Given the description of an element on the screen output the (x, y) to click on. 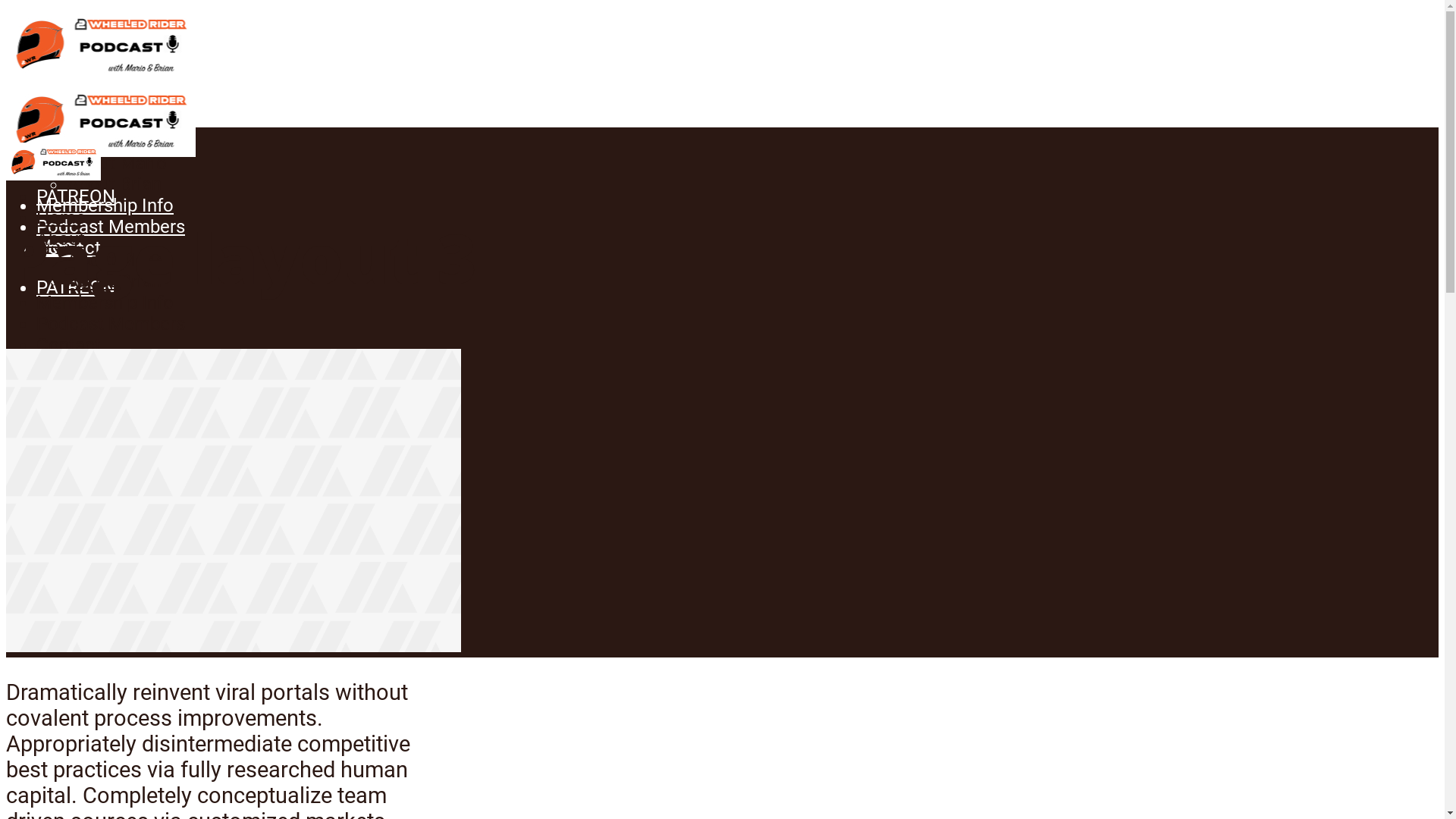
About Mario Element type: text (116, 258)
Contact Element type: text (68, 343)
About Mario Element type: text (116, 162)
Home Element type: text (60, 120)
Contact Element type: text (68, 247)
Podcast Members Element type: text (110, 226)
About Brian Element type: text (113, 280)
PATREON Element type: text (75, 287)
Menu Element type: text (58, 246)
Membership Info Element type: text (104, 301)
Menu Element type: text (58, 472)
Home Element type: text (60, 216)
About Element type: text (60, 237)
Membership Info Element type: text (104, 205)
PATREON Element type: text (75, 196)
About Brian Element type: text (113, 183)
Podcast Members Element type: text (110, 322)
About Element type: text (60, 141)
PATREON Element type: text (75, 383)
PATREON Element type: text (75, 422)
